Given the description of an element on the screen output the (x, y) to click on. 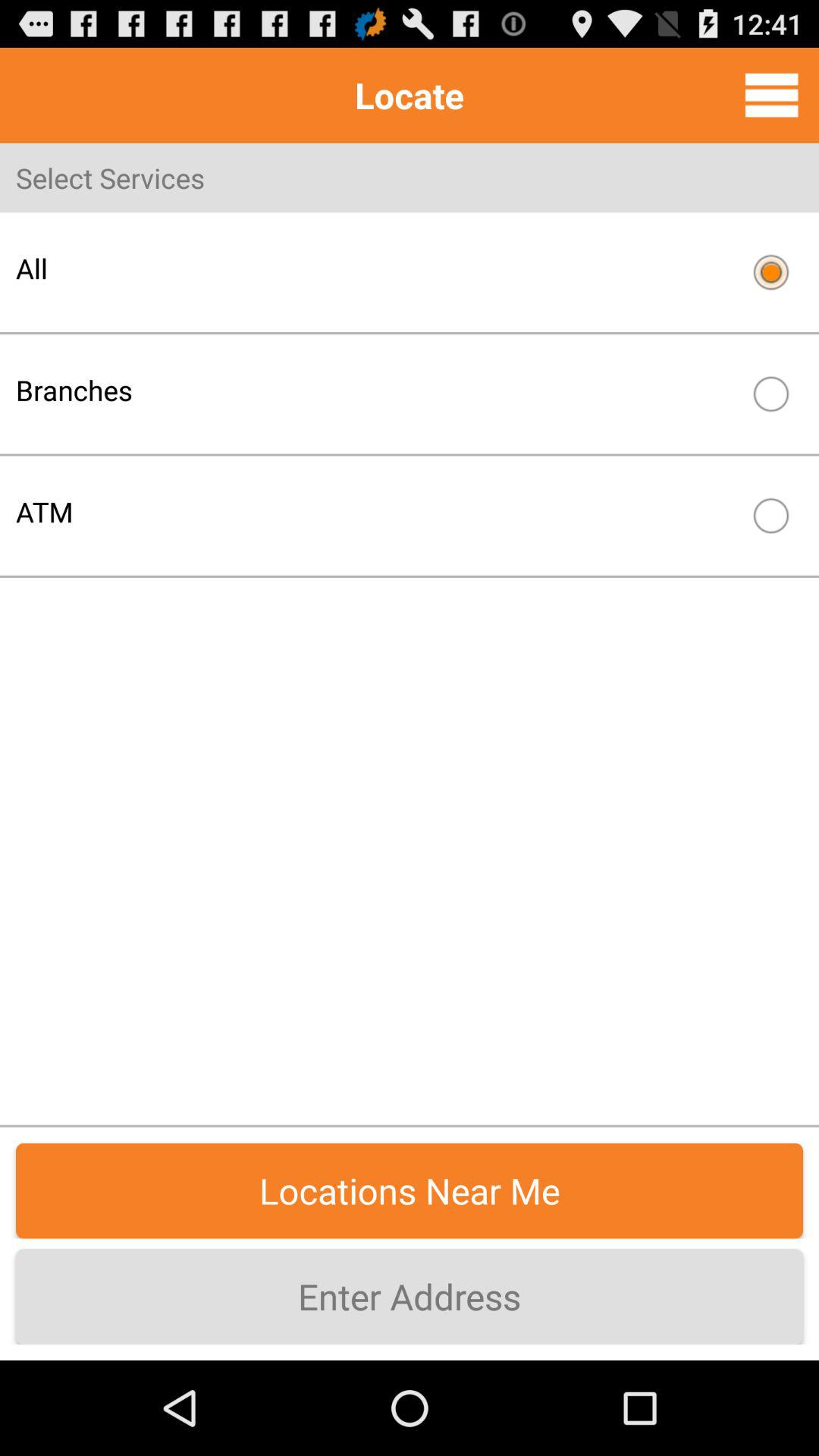
turn off enter address item (409, 1296)
